Given the description of an element on the screen output the (x, y) to click on. 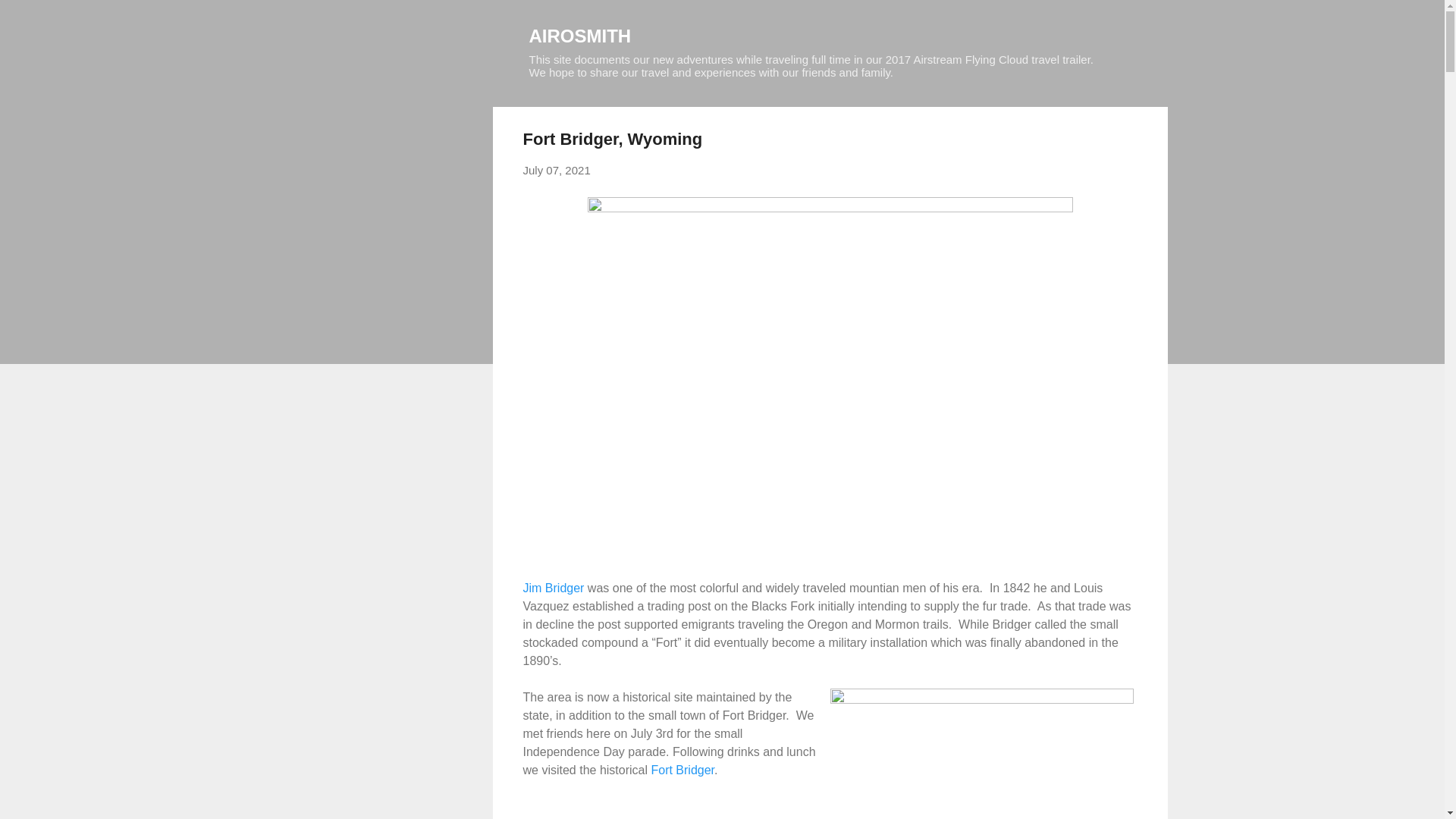
Jim Bridger (553, 586)
July 07, 2021 (556, 169)
permanent link (556, 169)
Search (29, 18)
AIROSMITH (580, 35)
Fort Bridger (682, 768)
